Given the description of an element on the screen output the (x, y) to click on. 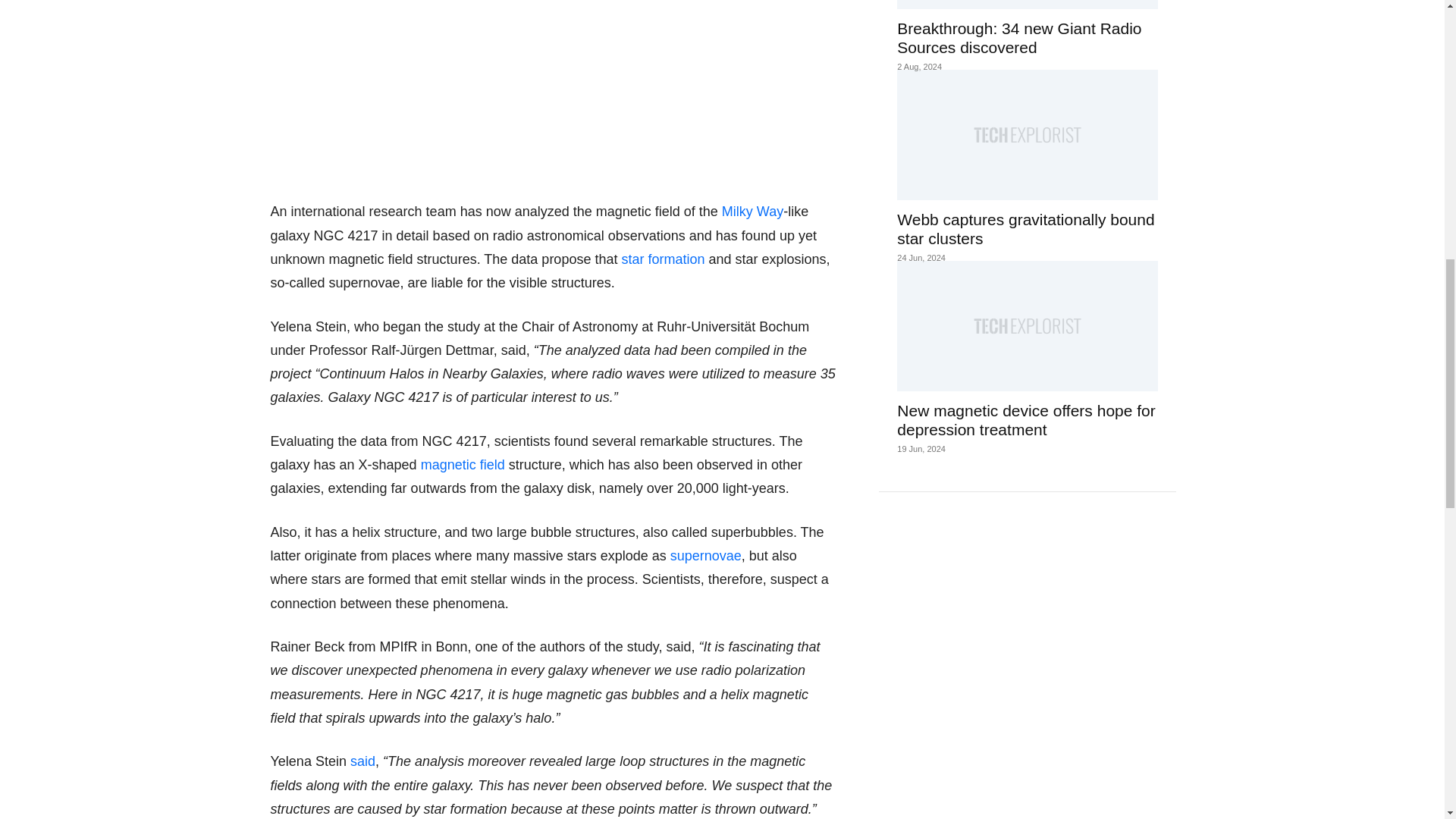
Milky Way (752, 211)
star formation (662, 258)
Breakthrough: 34 new Giant Radio Sources discovered (1026, 4)
